Given the description of an element on the screen output the (x, y) to click on. 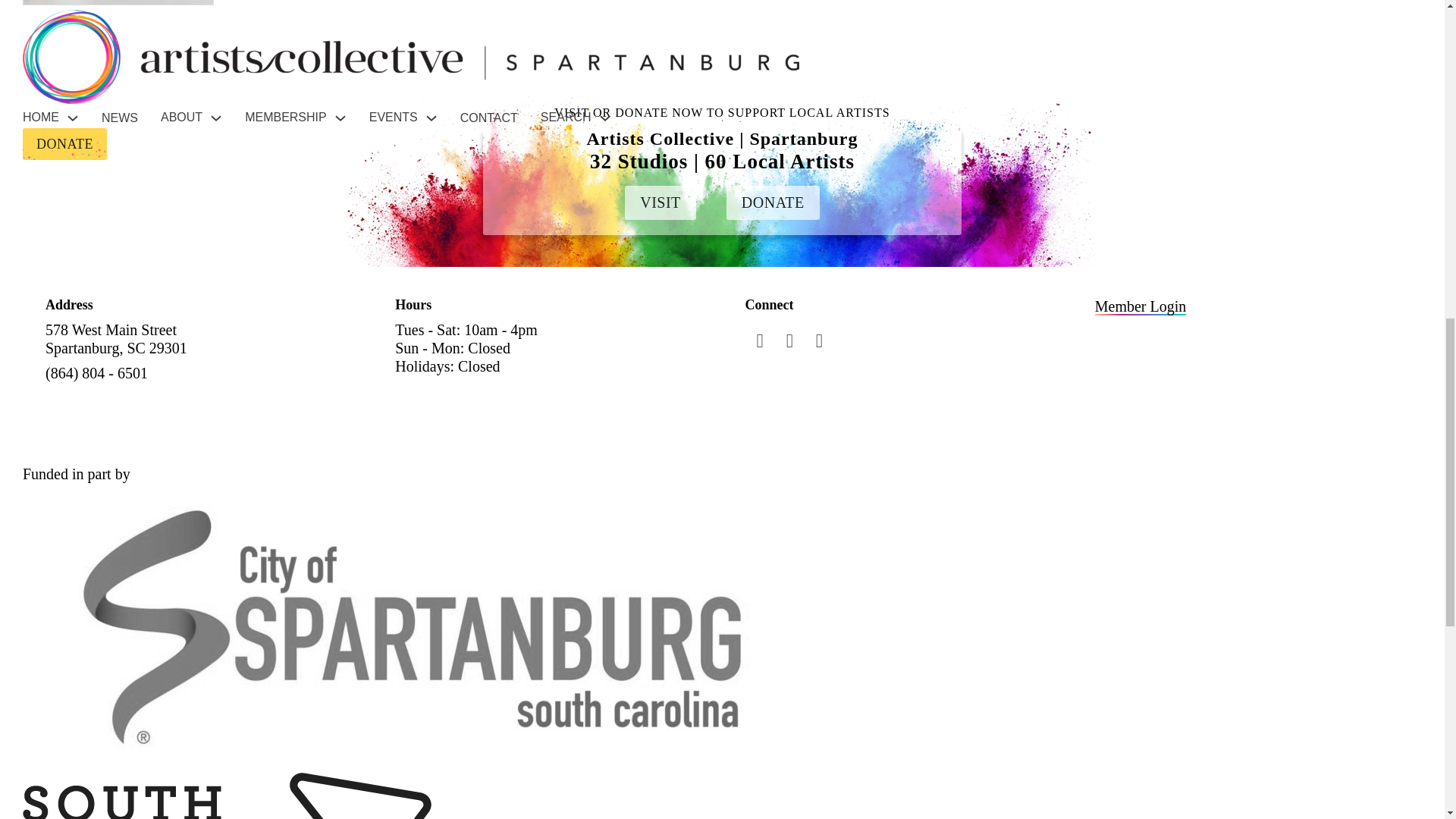
Member Login (1140, 306)
VISIT (659, 202)
DONATE (772, 202)
